Given the description of an element on the screen output the (x, y) to click on. 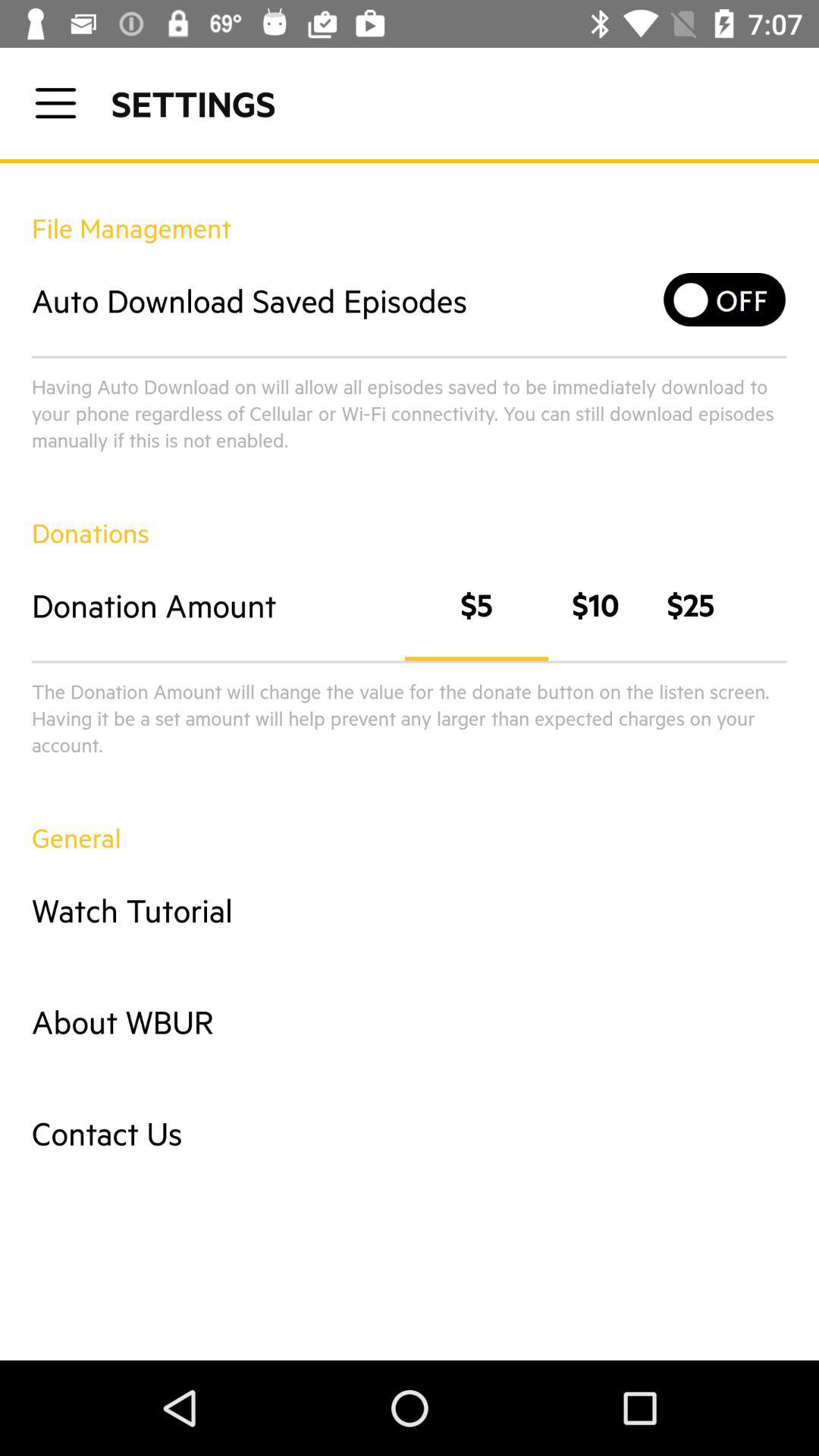
turn on the item below the general item (409, 909)
